Given the description of an element on the screen output the (x, y) to click on. 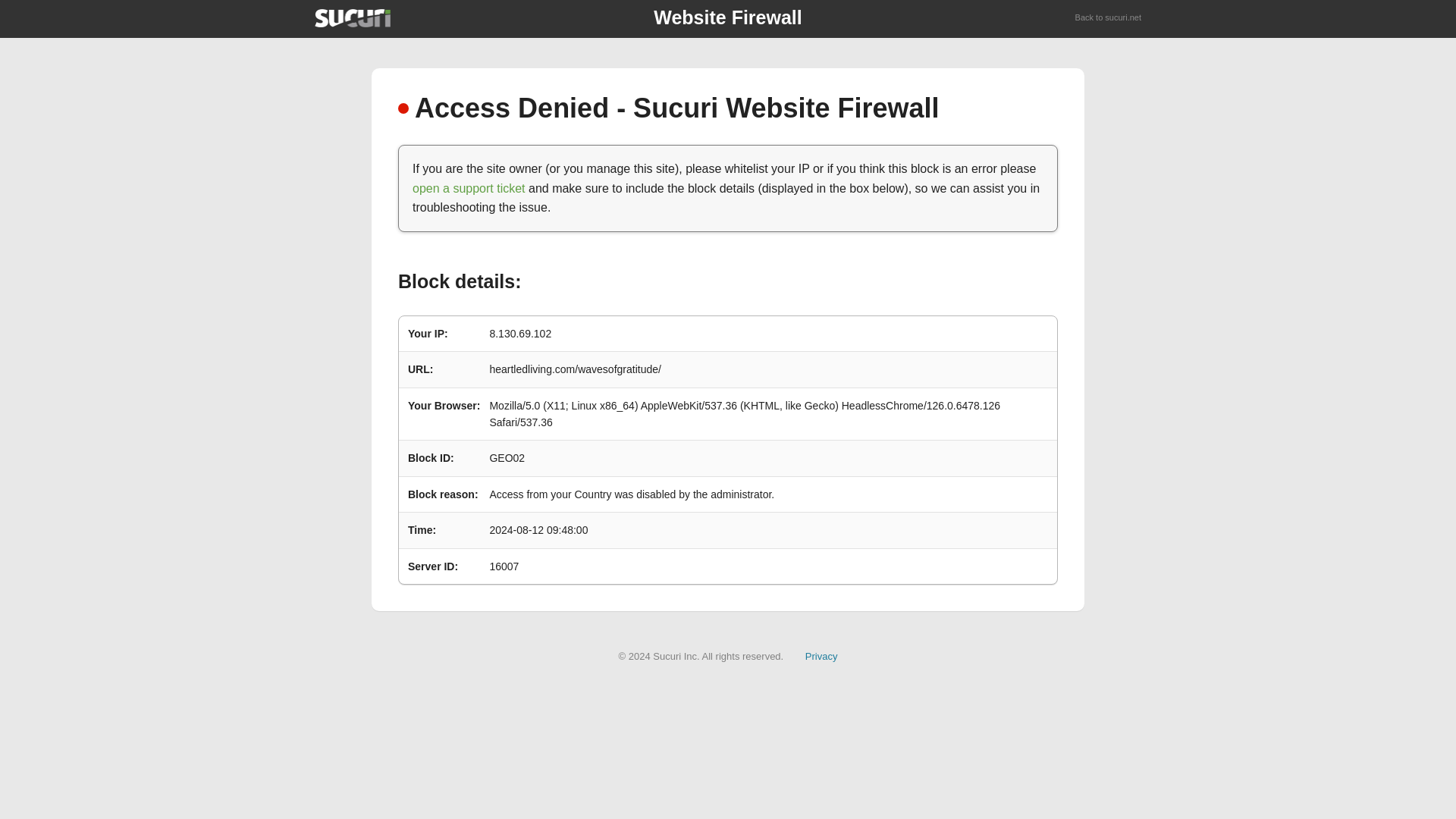
open a support ticket (468, 187)
Back to sucuri.net (1108, 18)
Privacy (821, 655)
